Given the description of an element on the screen output the (x, y) to click on. 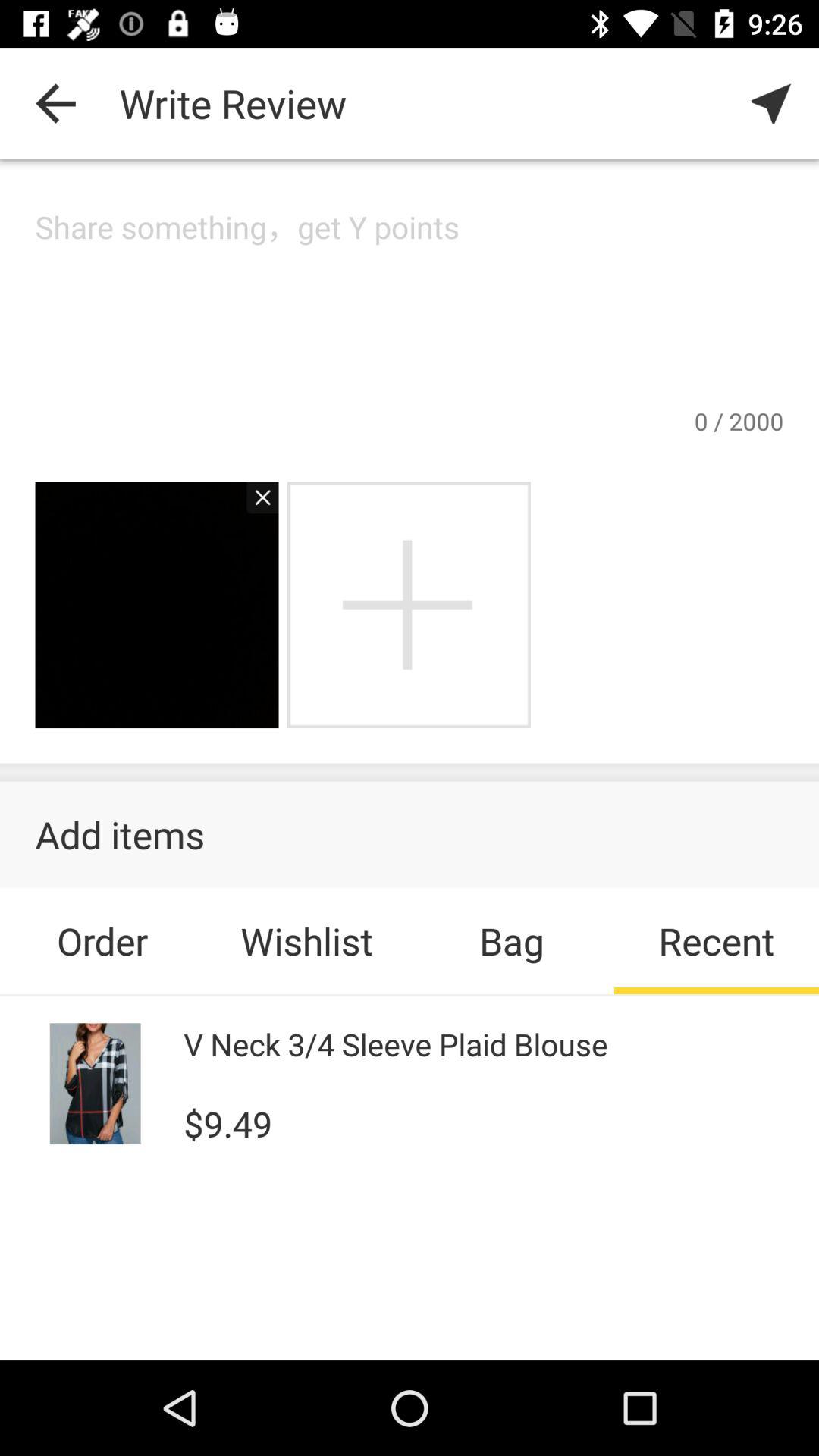
add photo (408, 604)
